Given the description of an element on the screen output the (x, y) to click on. 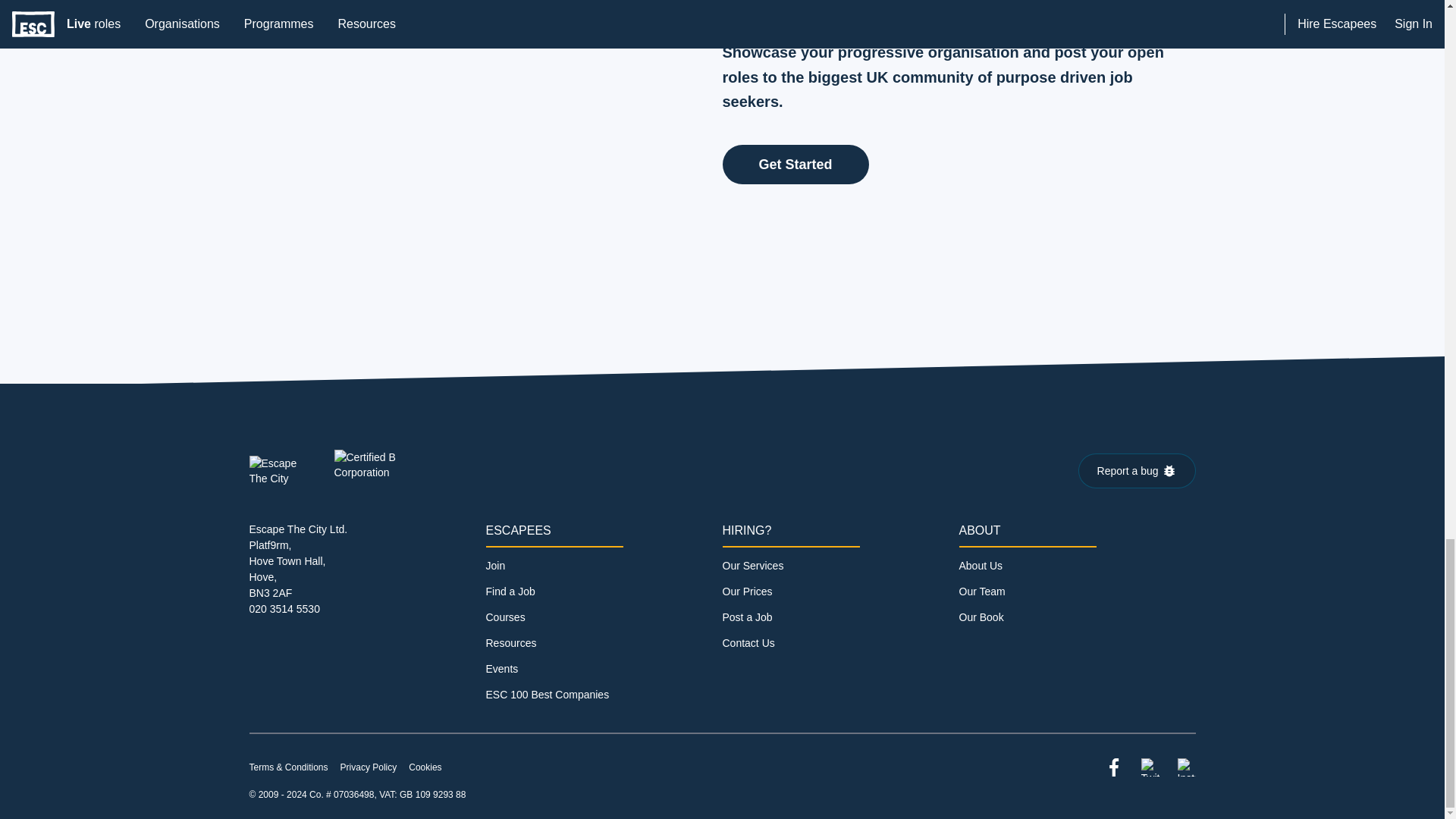
Report a bug (1136, 470)
Resources (509, 643)
Events (501, 668)
Courses (504, 616)
Find a Job (509, 591)
020 3514 5530 (283, 608)
Our Services (752, 565)
ESC 100 Best Companies (546, 694)
Get Started (794, 164)
